Given the description of an element on the screen output the (x, y) to click on. 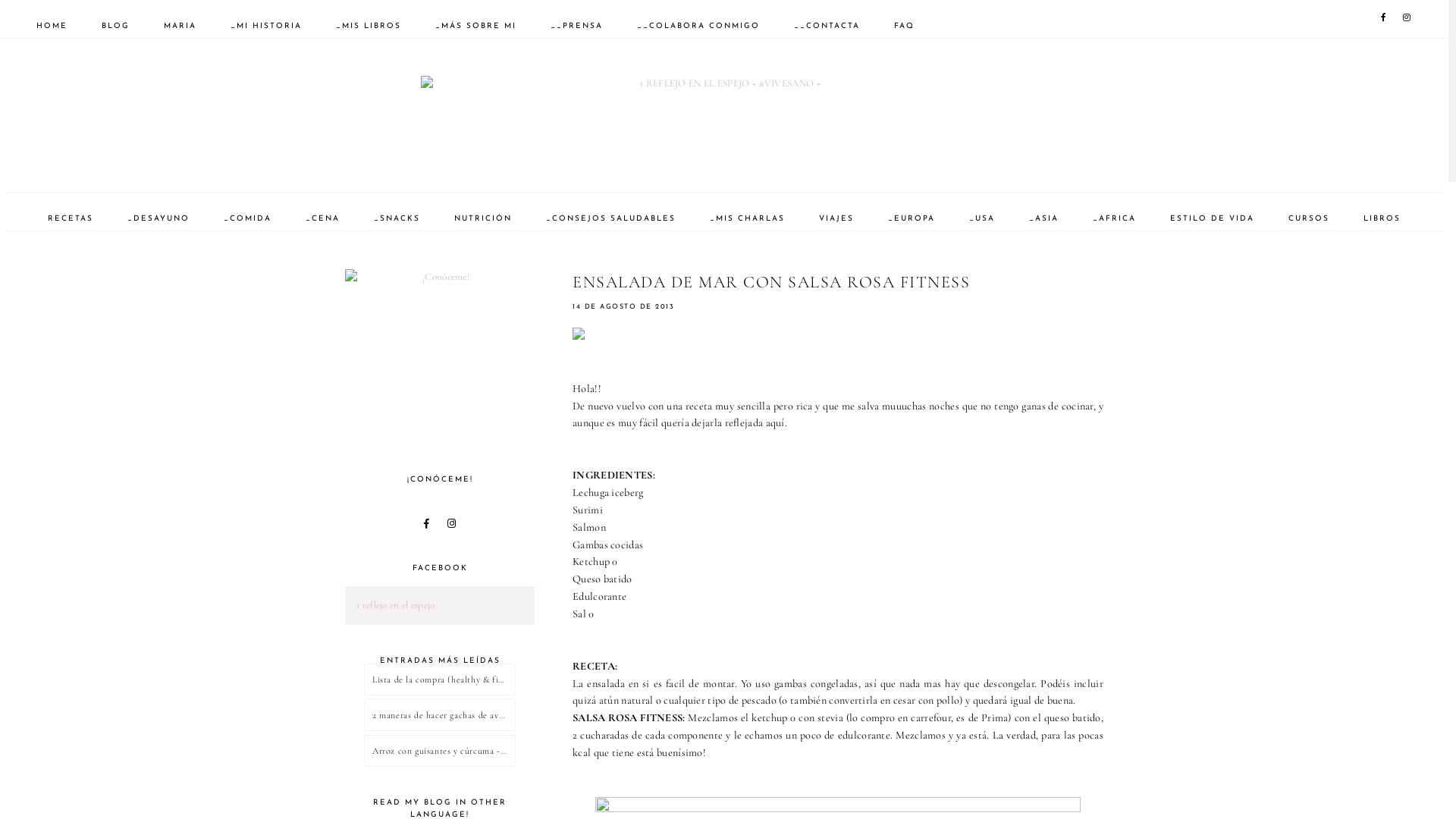
HOME Element type: text (51, 25)
_USA Element type: text (981, 218)
1 reflejo en el espejo Element type: text (395, 605)
_DESAYUNO Element type: text (158, 218)
_AFRICA Element type: text (1113, 218)
RECETAS Element type: text (70, 218)
_SNACKS Element type: text (396, 218)
__PRENSA Element type: text (576, 25)
_MIS CHARLAS Element type: text (746, 218)
VIAJES Element type: text (836, 218)
2 maneras de hacer gachas de avena o porridge Element type: text (439, 714)
_MIS LIBROS Element type: text (368, 25)
_CENA Element type: text (322, 218)
LIBROS Element type: text (1381, 218)
_MI HISTORIA Element type: text (265, 25)
CURSOS Element type: text (1308, 218)
FAQ Element type: text (904, 25)
_CONSEJOS SALUDABLES Element type: text (610, 218)
__COLABORA CONMIGO Element type: text (698, 25)
_ASIA Element type: text (1043, 218)
_COMIDA Element type: text (247, 218)
BLOG Element type: text (115, 25)
__CONTACTA Element type: text (826, 25)
Lista de la compra (healthy & fitness) Element type: text (439, 679)
MARIA Element type: text (179, 25)
_EUROPA Element type: text (911, 218)
ESTILO DE VIDA Element type: text (1212, 218)
